Given the description of an element on the screen output the (x, y) to click on. 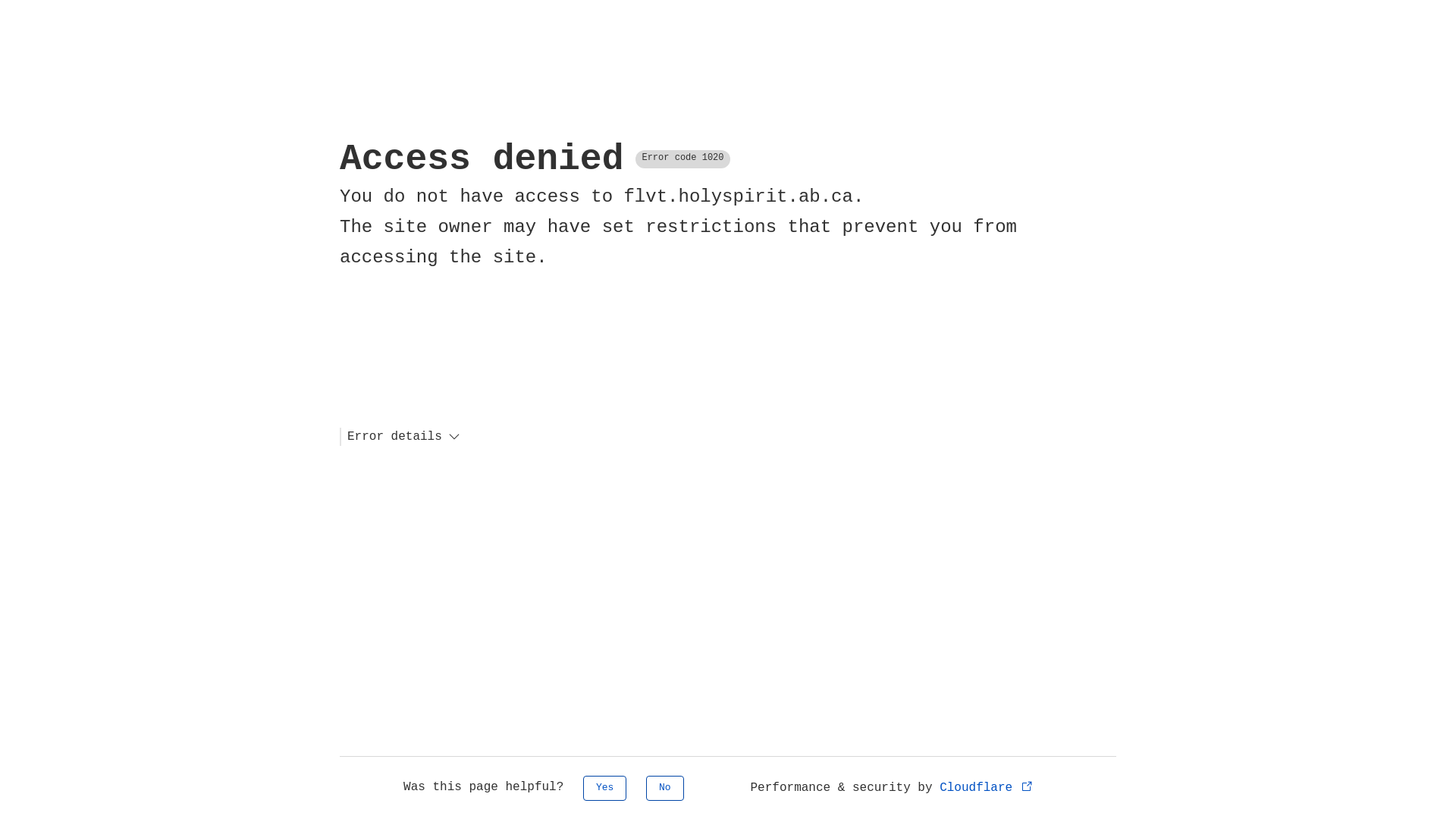
Cloudflare Element type: text (986, 787)
No Element type: text (665, 787)
Yes Element type: text (604, 787)
Opens in new tab Element type: hover (1027, 785)
